Given the description of an element on the screen output the (x, y) to click on. 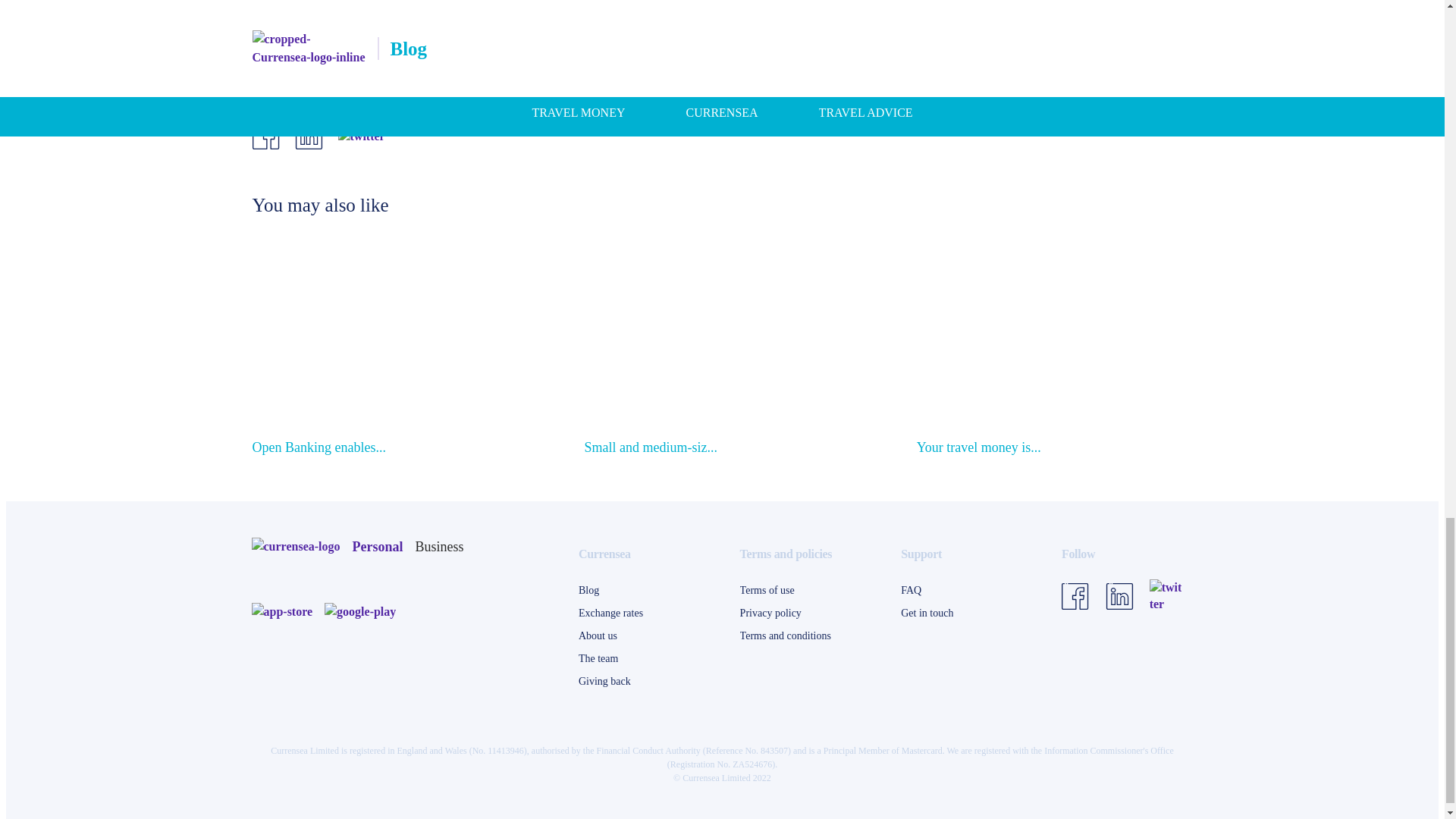
Personal (377, 546)
Get in touch (927, 612)
Small and medium-siz... (651, 447)
Giving back (604, 681)
Terms of use (766, 590)
FAQ (911, 590)
Privacy policy (770, 612)
Your travel money is... (979, 447)
The team (597, 658)
Exchange rates (610, 612)
Business (439, 546)
Open Banking enables... (318, 447)
Terms and conditions (785, 635)
Blog (588, 590)
About us (597, 635)
